Given the description of an element on the screen output the (x, y) to click on. 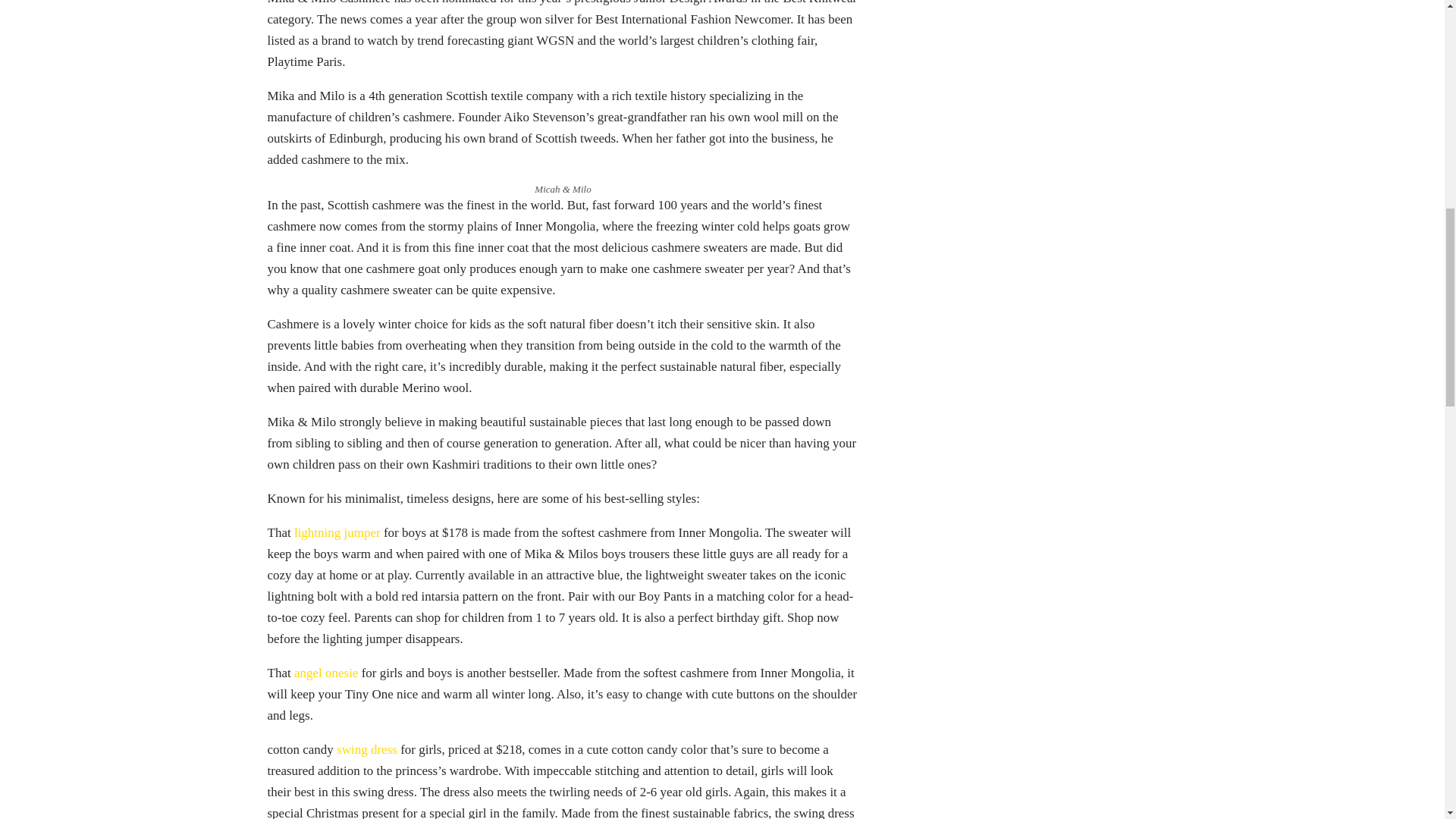
lightning jumper (337, 531)
swing dress (366, 748)
angel onesie (326, 672)
